Given the description of an element on the screen output the (x, y) to click on. 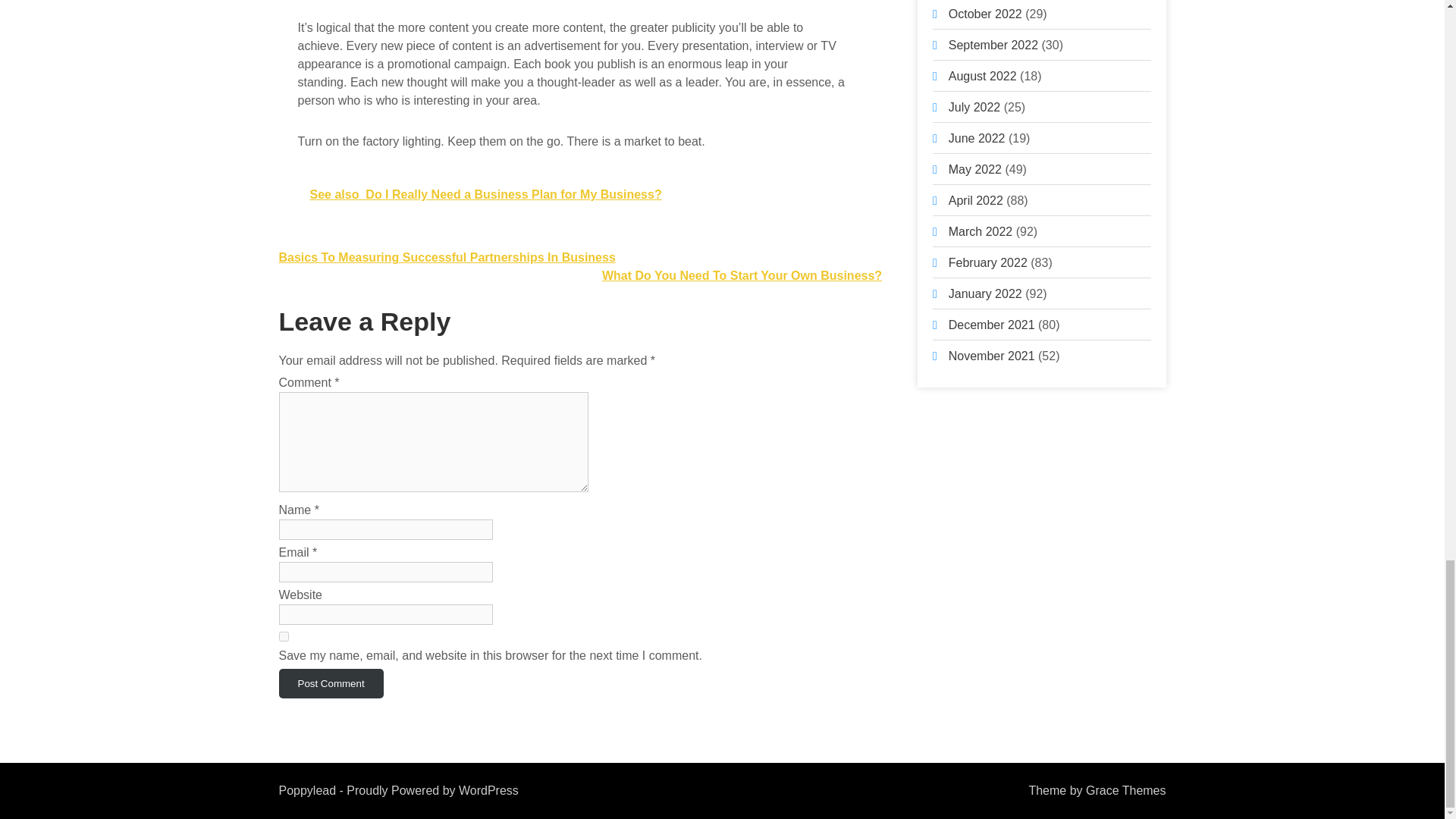
yes (283, 636)
February 2022 (988, 262)
See also  Do I Really Need a Business Plan for My Business? (580, 194)
October 2022 (985, 13)
Basics To Measuring Successful Partnerships In Business (447, 256)
Post Comment (331, 683)
April 2022 (976, 200)
June 2022 (977, 137)
What Do You Need To Start Your Own Business? (742, 275)
May 2022 (975, 169)
Post Comment (331, 683)
September 2022 (993, 44)
March 2022 (981, 231)
August 2022 (982, 75)
July 2022 (975, 106)
